Given the description of an element on the screen output the (x, y) to click on. 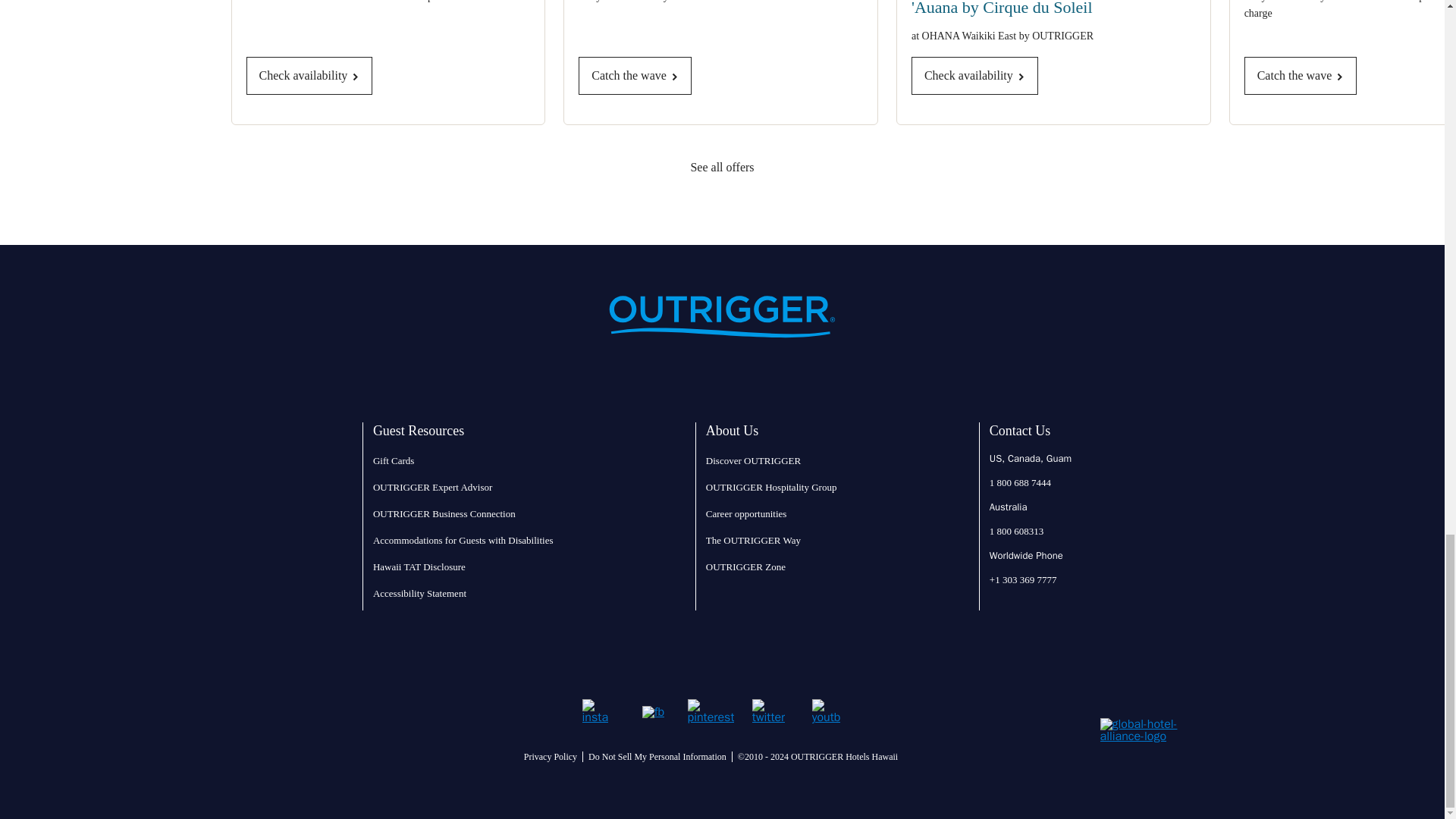
Catch the wave (1300, 75)
Check availability (309, 75)
Catch the wave (634, 75)
Check availability (974, 75)
